Given the description of an element on the screen output the (x, y) to click on. 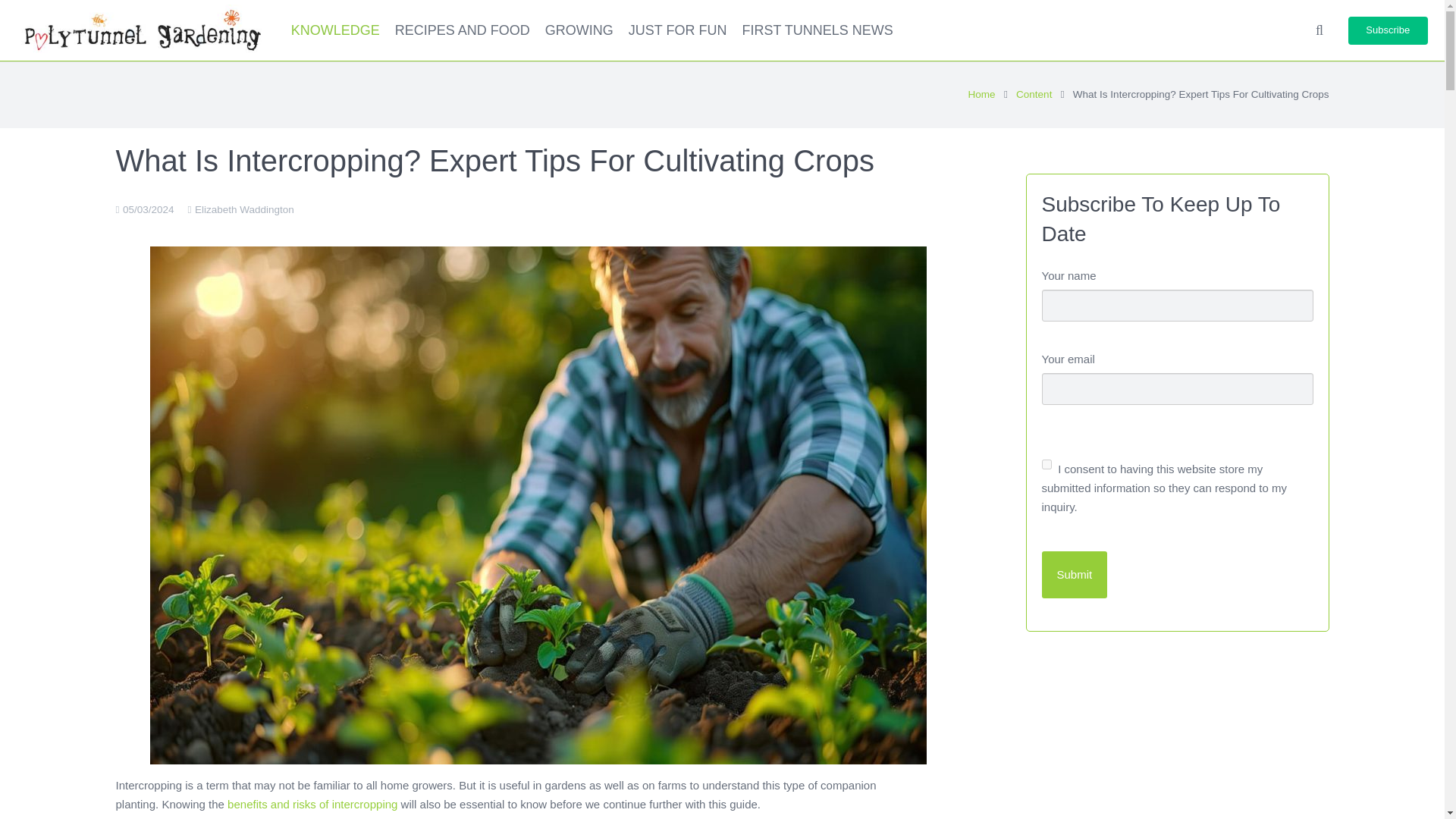
RECIPES AND FOOD (462, 30)
GROWING (579, 30)
benefits and risks of intercropping (312, 803)
KNOWLEDGE (335, 30)
FIRST TUNNELS NEWS (816, 30)
Subscribe (1388, 30)
Content (1033, 93)
Submit (1075, 574)
Elizabeth Waddington (244, 209)
Home (981, 93)
